Given the description of an element on the screen output the (x, y) to click on. 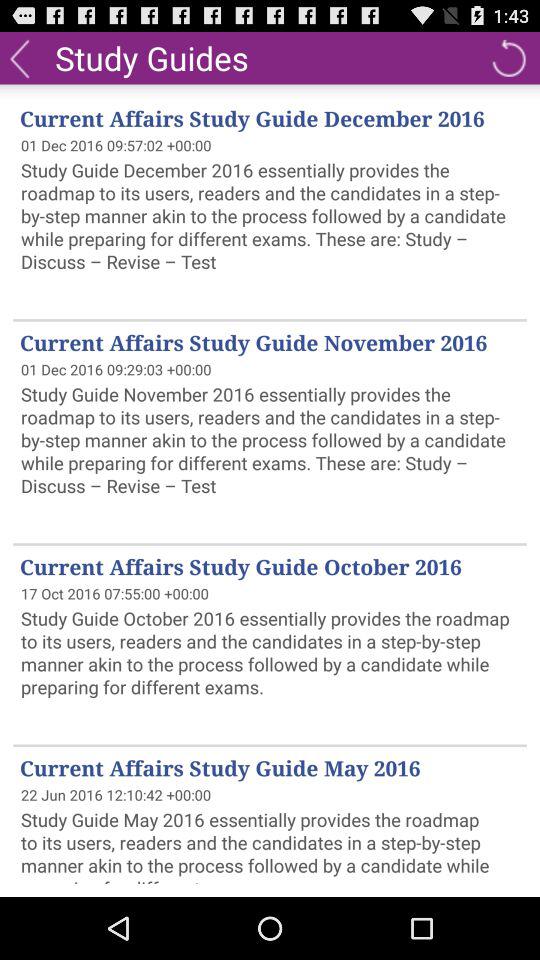
press app above current affairs study (19, 57)
